Given the description of an element on the screen output the (x, y) to click on. 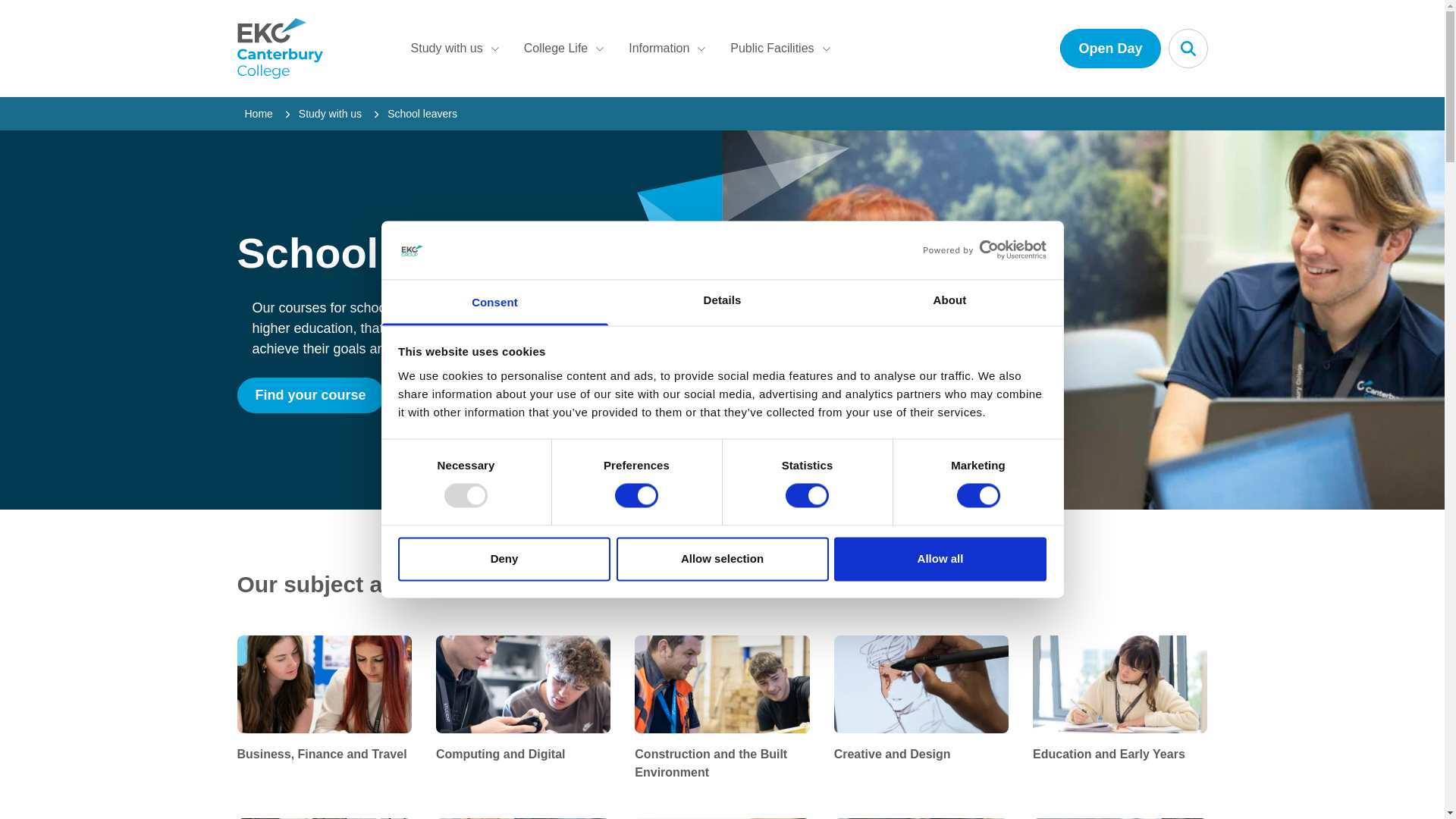
Study with us (454, 48)
Allow selection (721, 558)
Home Link Logo (314, 48)
Details (721, 302)
Allow all (940, 558)
About (948, 302)
Deny (503, 558)
Consent (494, 302)
